Given the description of an element on the screen output the (x, y) to click on. 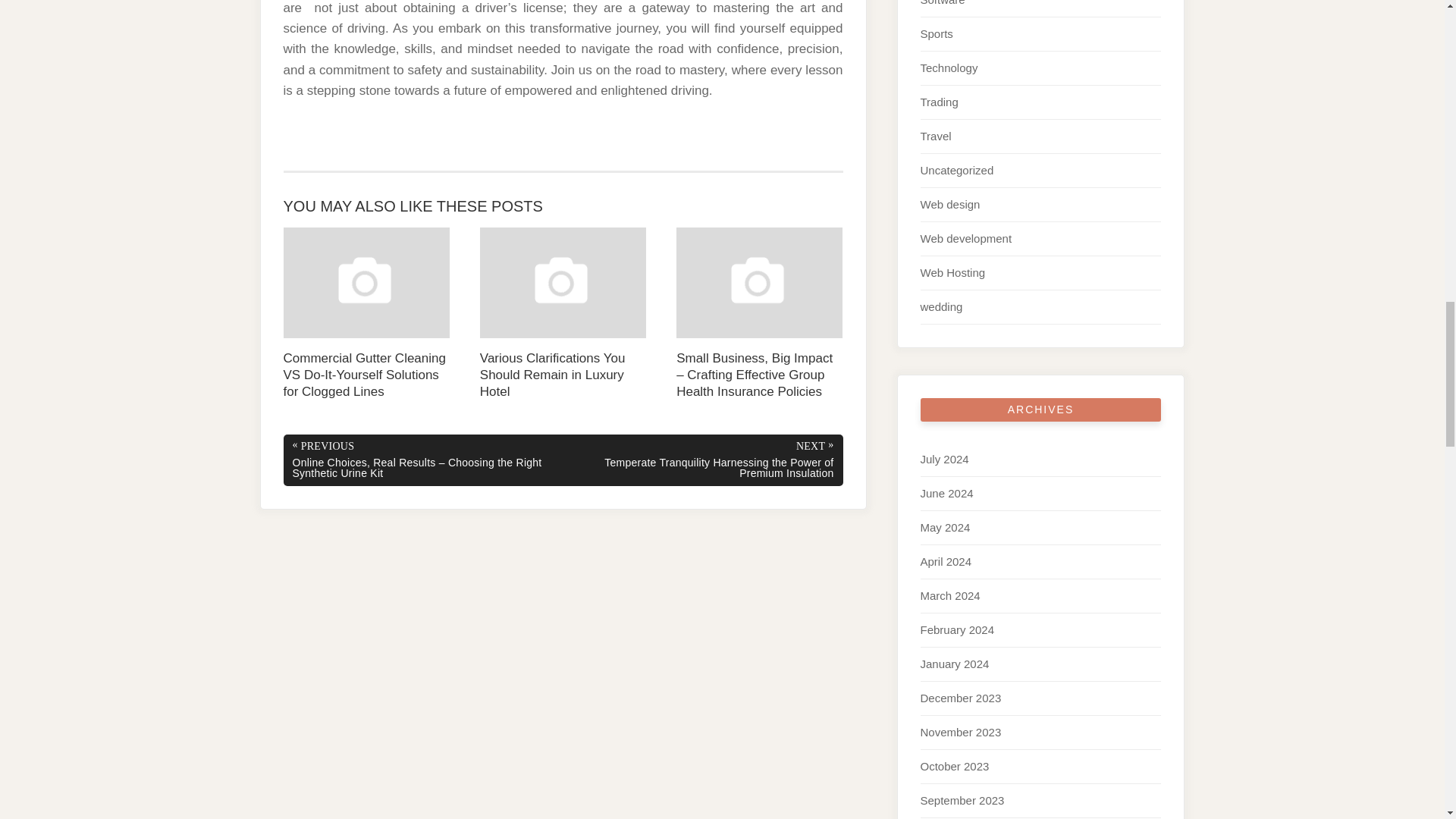
Various Clarifications You Should Remain in Luxury Hotel (563, 314)
Various Clarifications You Should Remain in Luxury Hotel (563, 314)
